Given the description of an element on the screen output the (x, y) to click on. 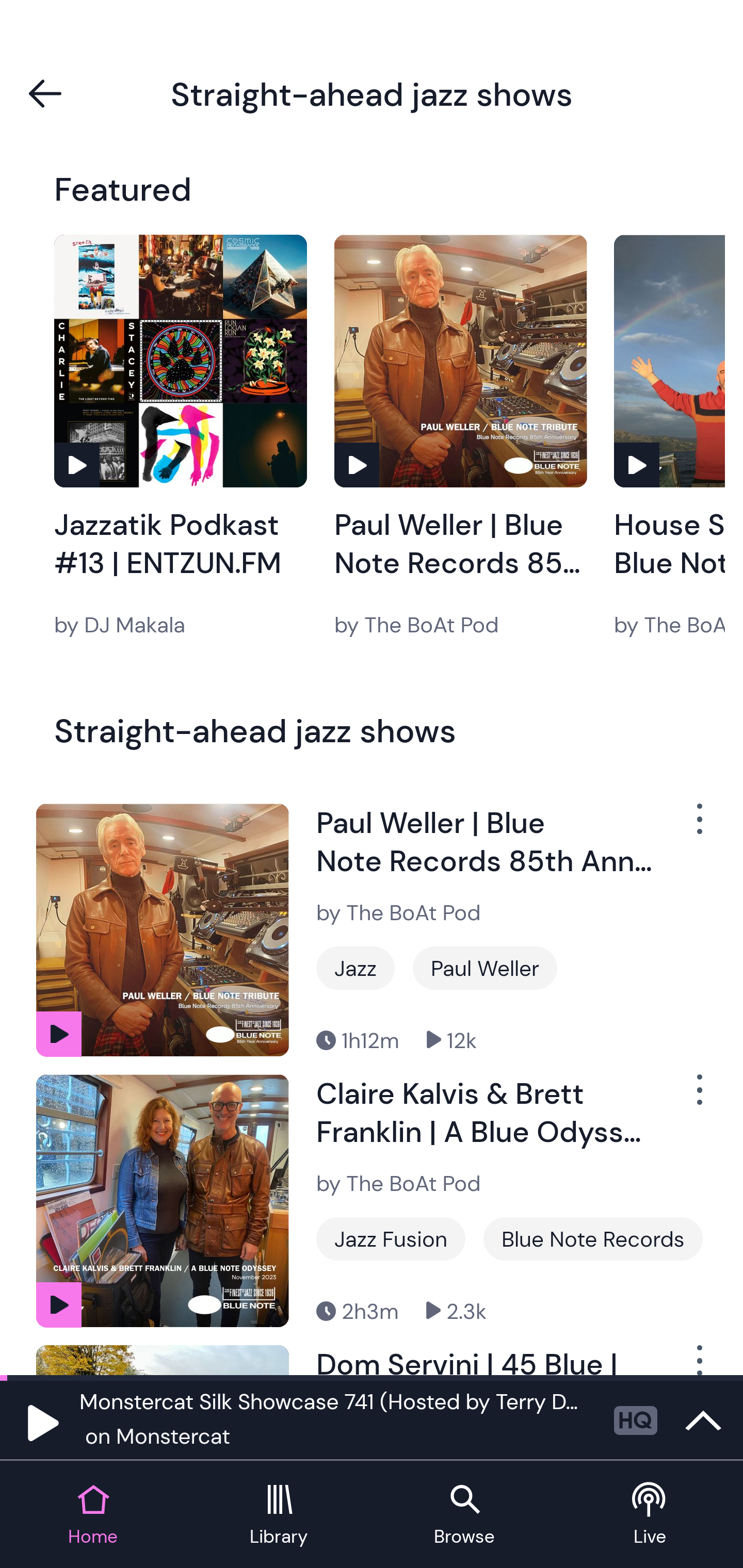
Show Options Menu Button (697, 825)
Jazz (355, 968)
Paul Weller (485, 968)
Show Options Menu Button (697, 1097)
Jazz Fusion (390, 1238)
Blue Note Records (592, 1238)
Show Options Menu Button (697, 1360)
Home tab Home (92, 1515)
Library tab Library (278, 1515)
Browse tab Browse (464, 1515)
Live tab Live (650, 1515)
